Given the description of an element on the screen output the (x, y) to click on. 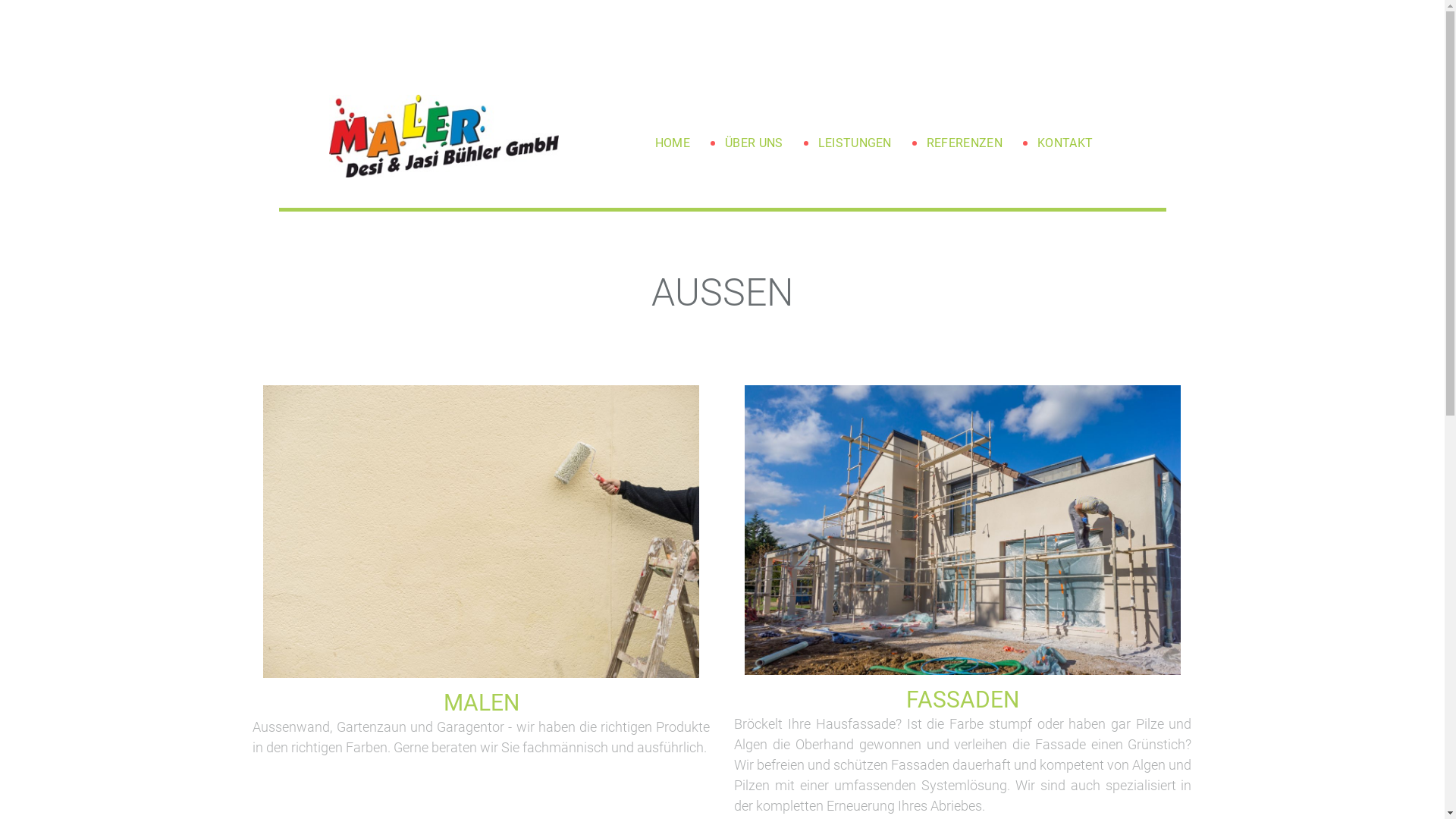
KONTAKT Element type: text (1064, 143)
REFERENZEN Element type: text (964, 143)
HOME Element type: text (672, 143)
LEISTUNGEN Element type: text (854, 143)
